Given the description of an element on the screen output the (x, y) to click on. 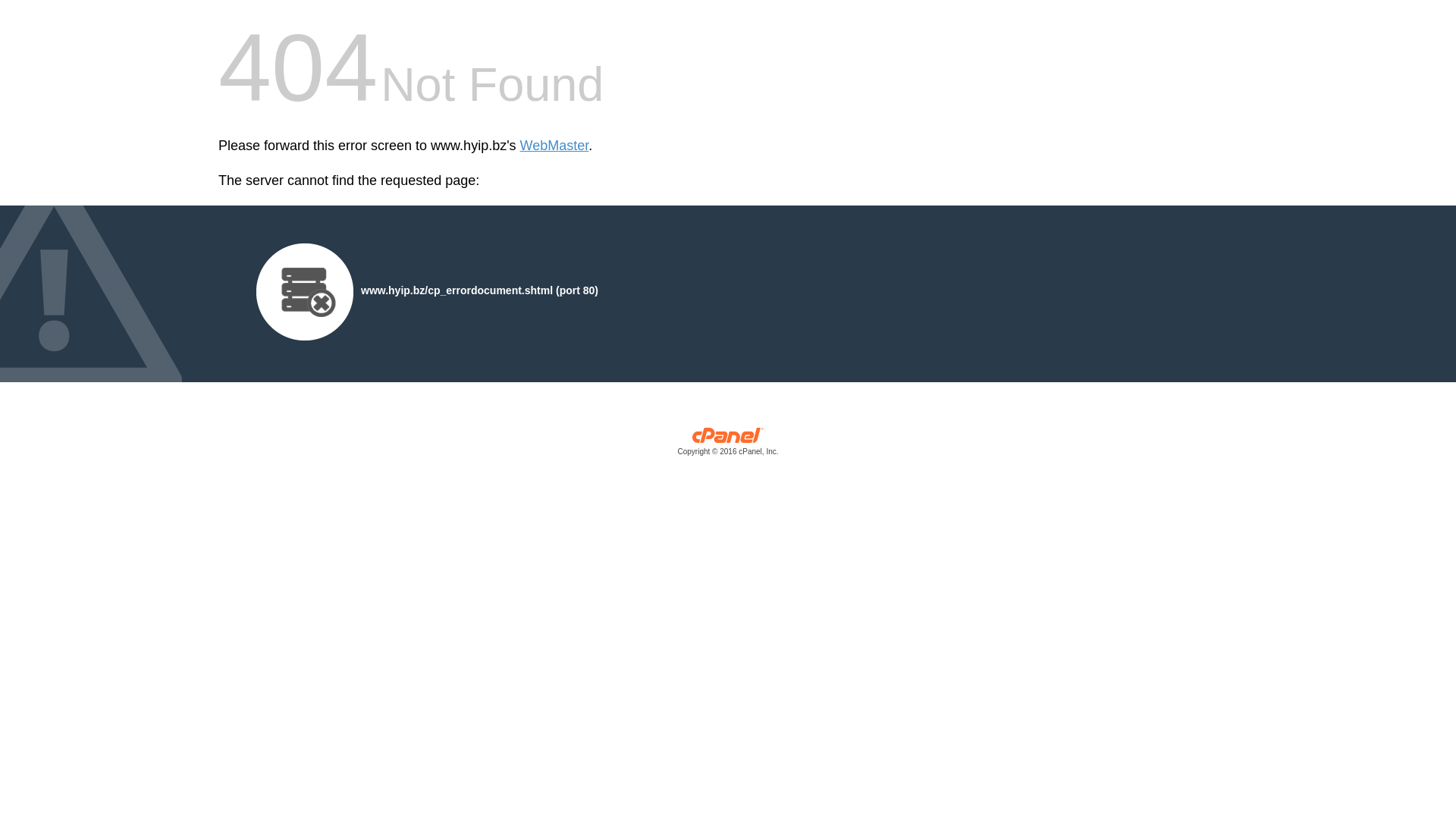
WebMaster Element type: text (554, 145)
